Given the description of an element on the screen output the (x, y) to click on. 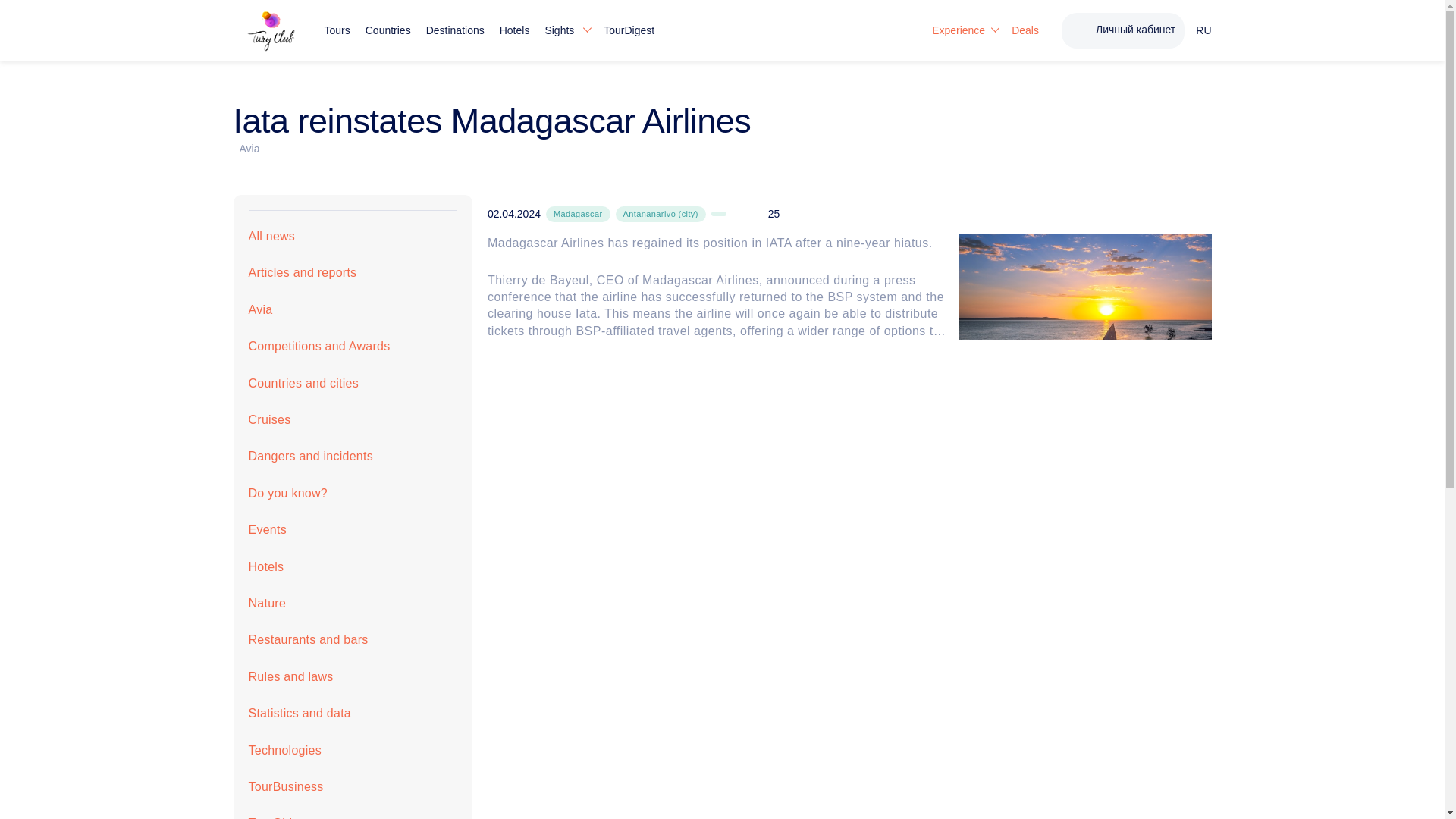
Hotels (514, 30)
Countries (387, 30)
Deals (1025, 30)
All news (352, 236)
Avia (352, 309)
Competitions and Awards (352, 346)
Articles and reports (352, 272)
Destinations (455, 30)
Sights  (566, 30)
Experience (963, 30)
TourDigest (628, 30)
Tours (337, 30)
